Given the description of an element on the screen output the (x, y) to click on. 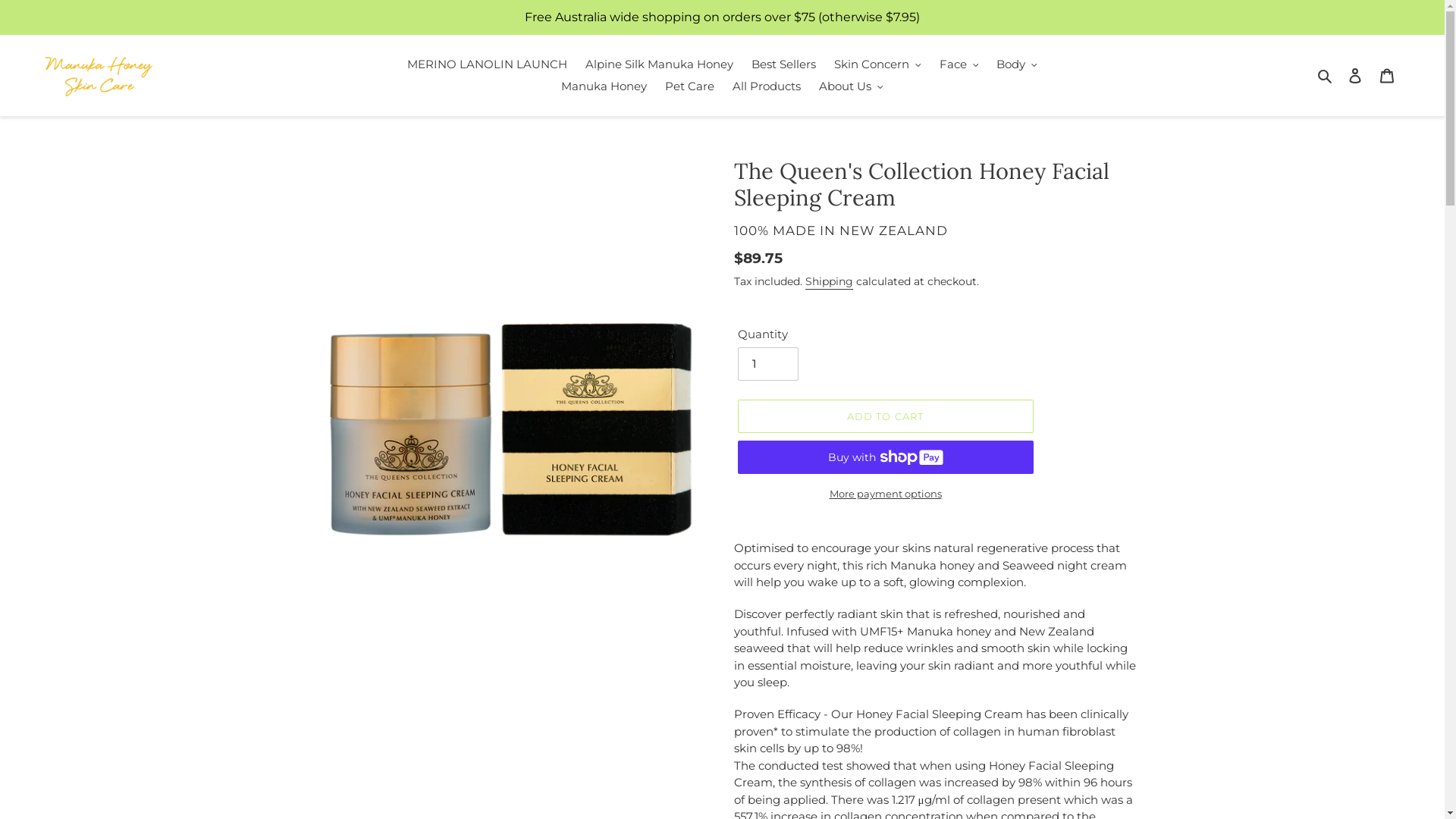
Best Sellers Element type: text (783, 64)
All Products Element type: text (766, 86)
Cart Element type: text (1386, 75)
Alpine Silk Manuka Honey Element type: text (658, 64)
Face Element type: text (958, 64)
Pet Care Element type: text (689, 86)
Manuka Honey Element type: text (603, 86)
Search Element type: text (1325, 74)
Shipping Element type: text (829, 281)
Skin Concern Element type: text (877, 64)
MERINO LANOLIN LAUNCH Element type: text (486, 64)
ADD TO CART Element type: text (884, 416)
Log in Element type: text (1355, 75)
About Us Element type: text (851, 86)
Body Element type: text (1016, 64)
More payment options Element type: text (884, 494)
